Given the description of an element on the screen output the (x, y) to click on. 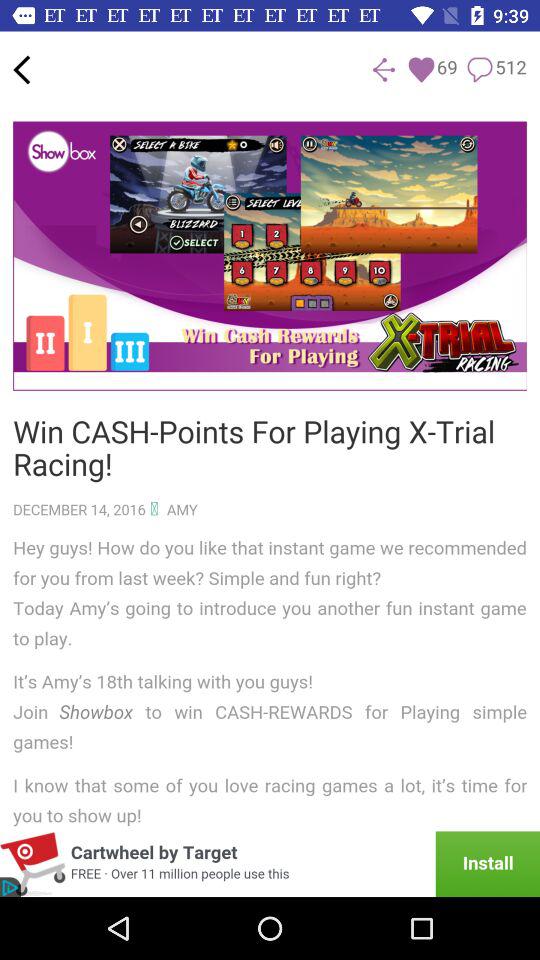
advertisement banner (270, 864)
